Given the description of an element on the screen output the (x, y) to click on. 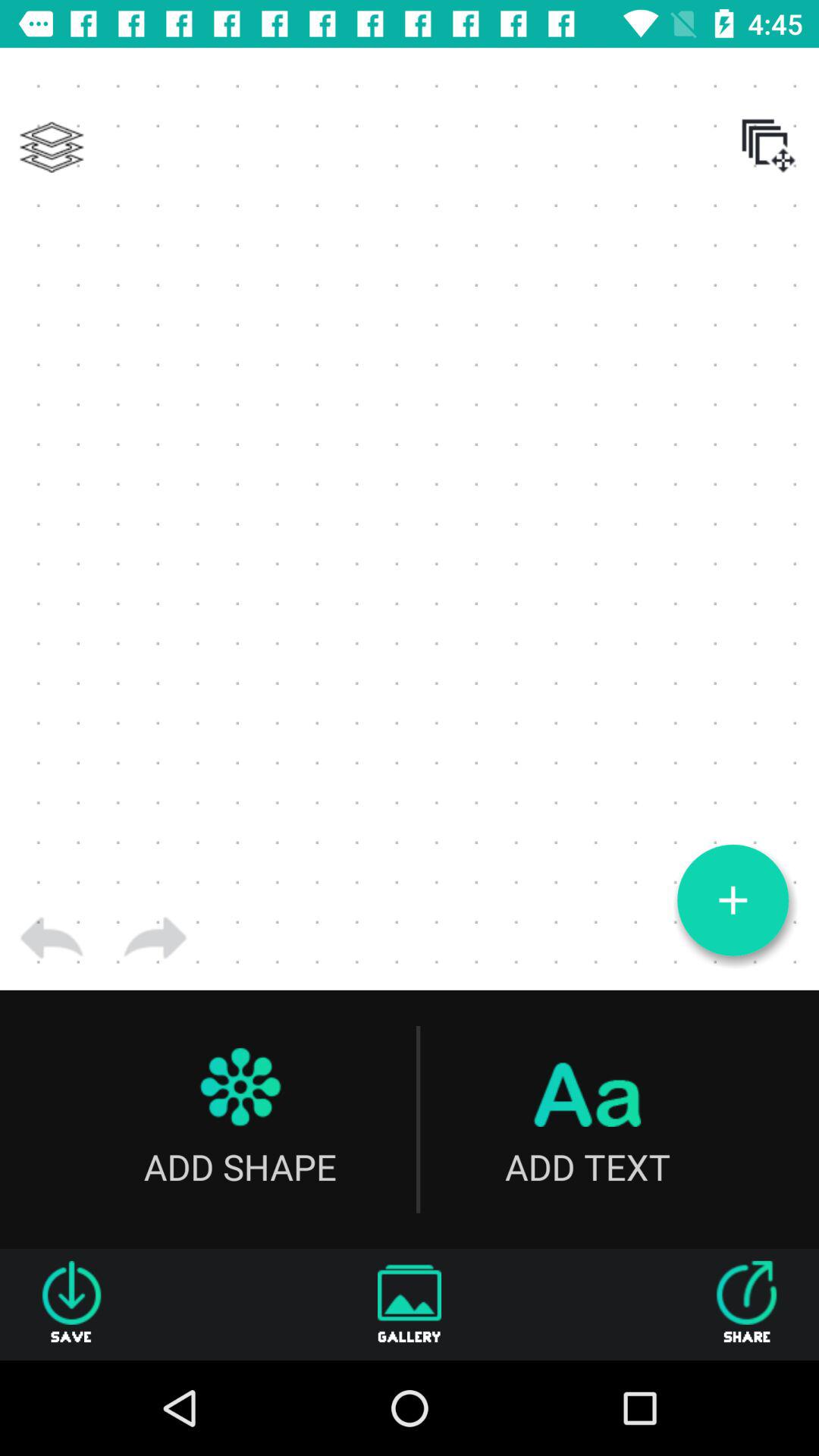
scroll to the save (71, 1304)
